Given the description of an element on the screen output the (x, y) to click on. 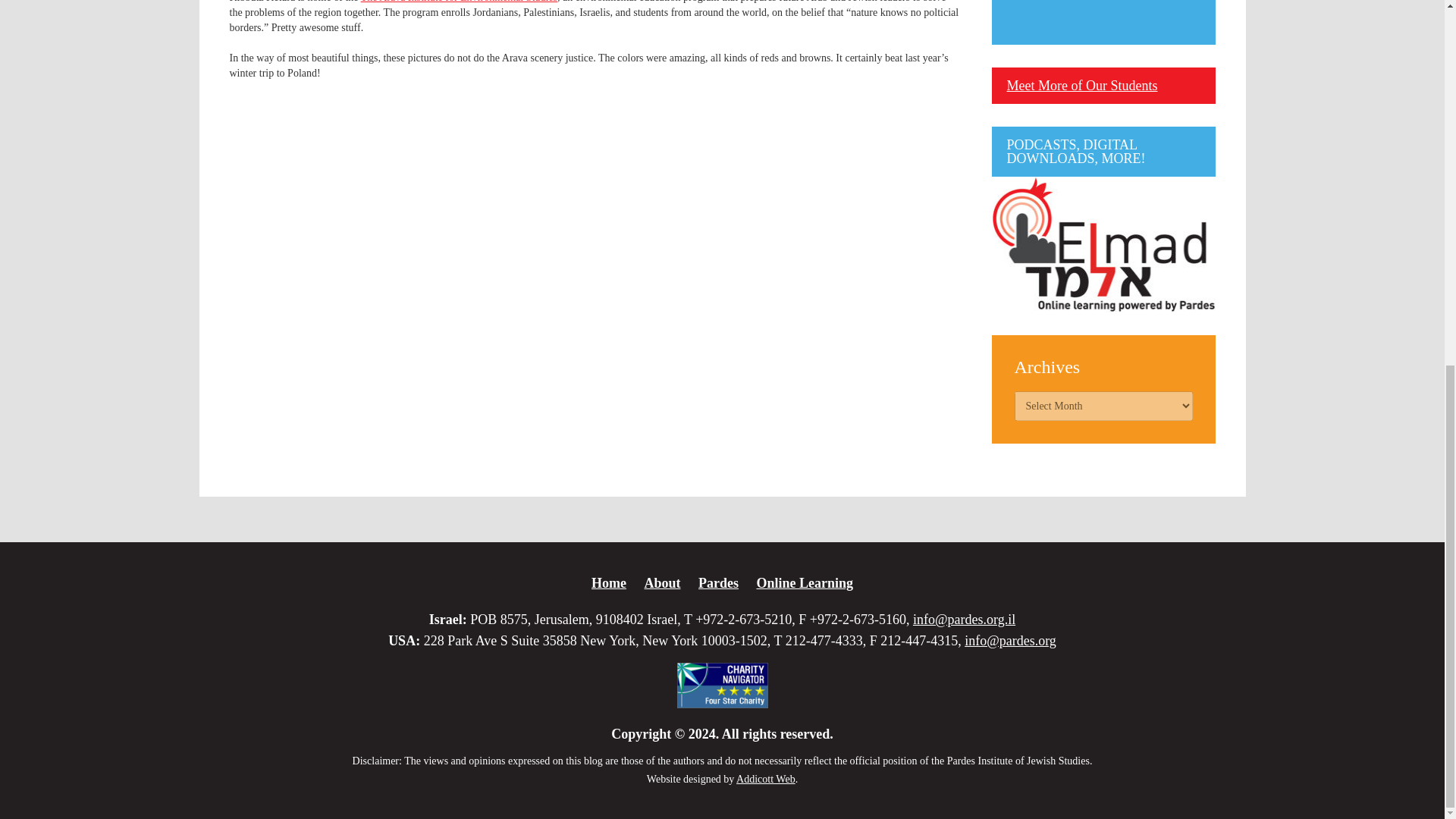
Meet More of Our Students (1082, 85)
Home (608, 582)
Podcasts, Digital Downloads, More! (1103, 243)
The Arava Institute for Environmental Studies (459, 1)
About (661, 582)
